Given the description of an element on the screen output the (x, y) to click on. 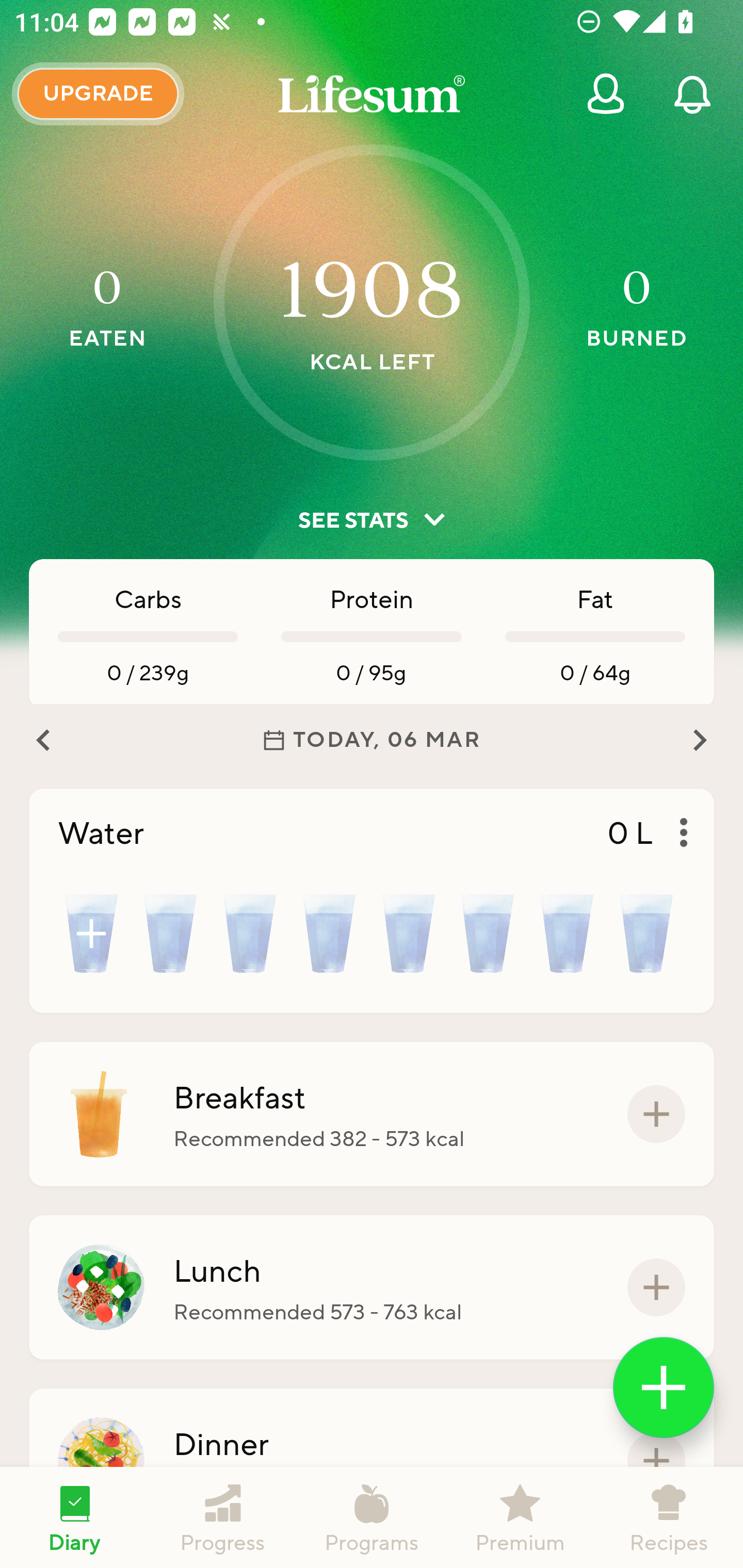
SEE STATS (371, 519)
TODAY, 06 MAR (371, 739)
Breakfast Recommended 382 - 573 kcal (371, 1113)
Lunch Recommended 573 - 763 kcal (371, 1287)
Dinner Recommended 573 - 763 kcal (371, 1461)
Progress (222, 1517)
Programs (371, 1517)
Premium (519, 1517)
Recipes (668, 1517)
